Given the description of an element on the screen output the (x, y) to click on. 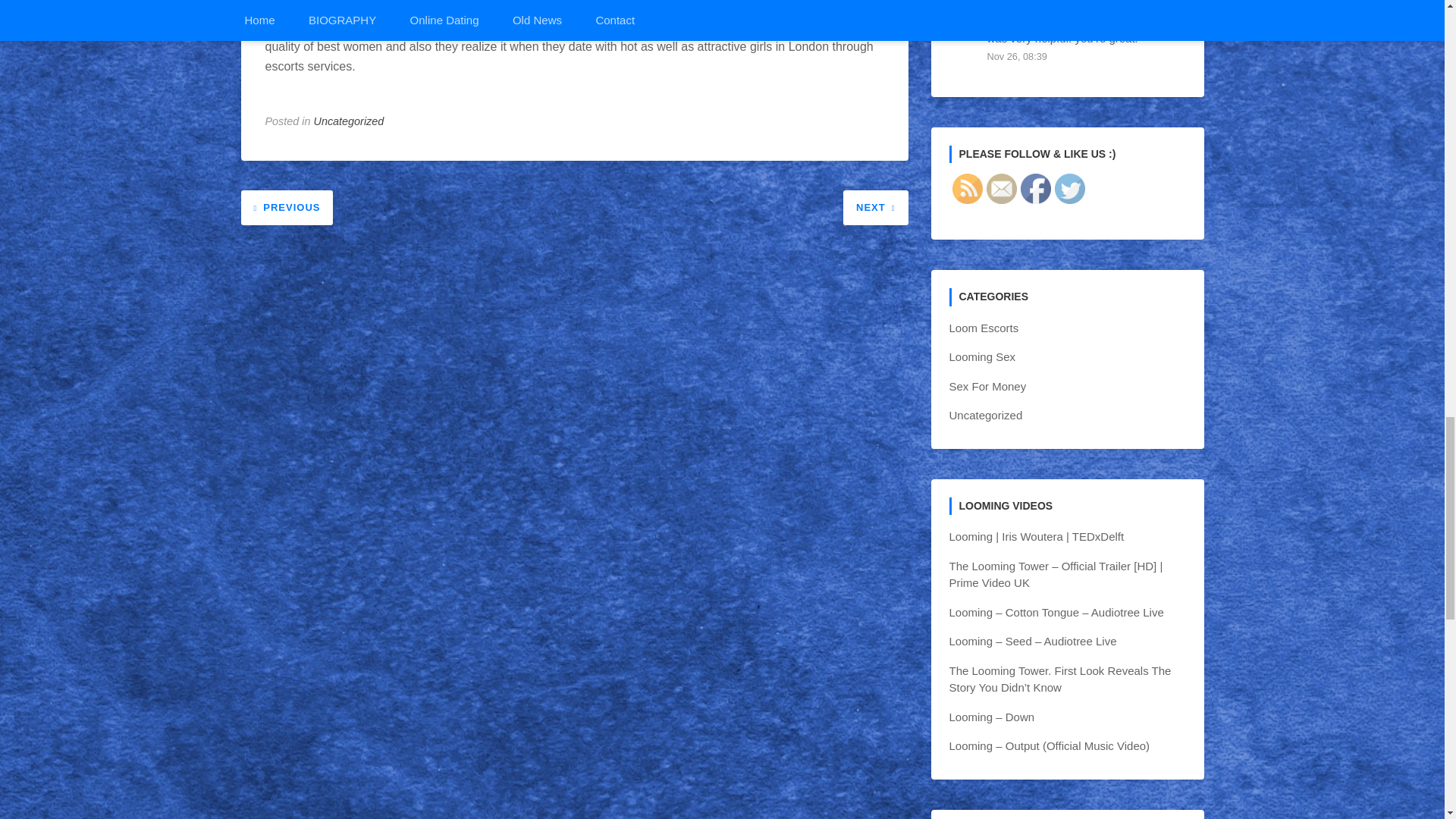
Twitter (1069, 188)
Sex For Money (987, 386)
Uncategorized (986, 414)
Facebook (1035, 188)
Loom Escorts (984, 327)
Uncategorized (349, 121)
NEXT (875, 205)
RSS (967, 188)
Follow by Email (1000, 188)
Looming Sex (982, 356)
PREVIOUS (287, 205)
